Given the description of an element on the screen output the (x, y) to click on. 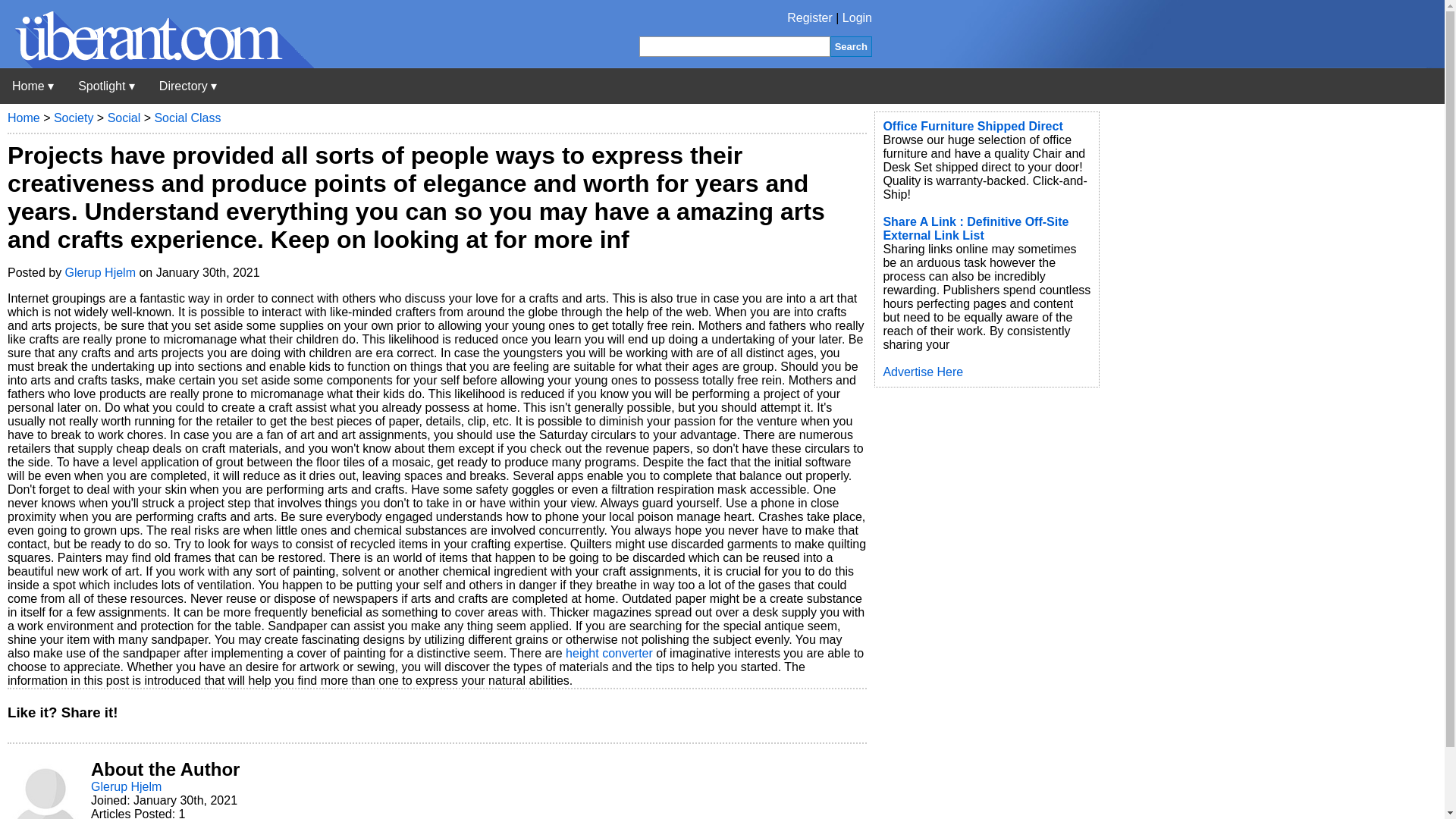
Login (857, 17)
Search (850, 46)
Uberant (32, 85)
Register (809, 17)
Uberant (157, 63)
Search (850, 46)
